Given the description of an element on the screen output the (x, y) to click on. 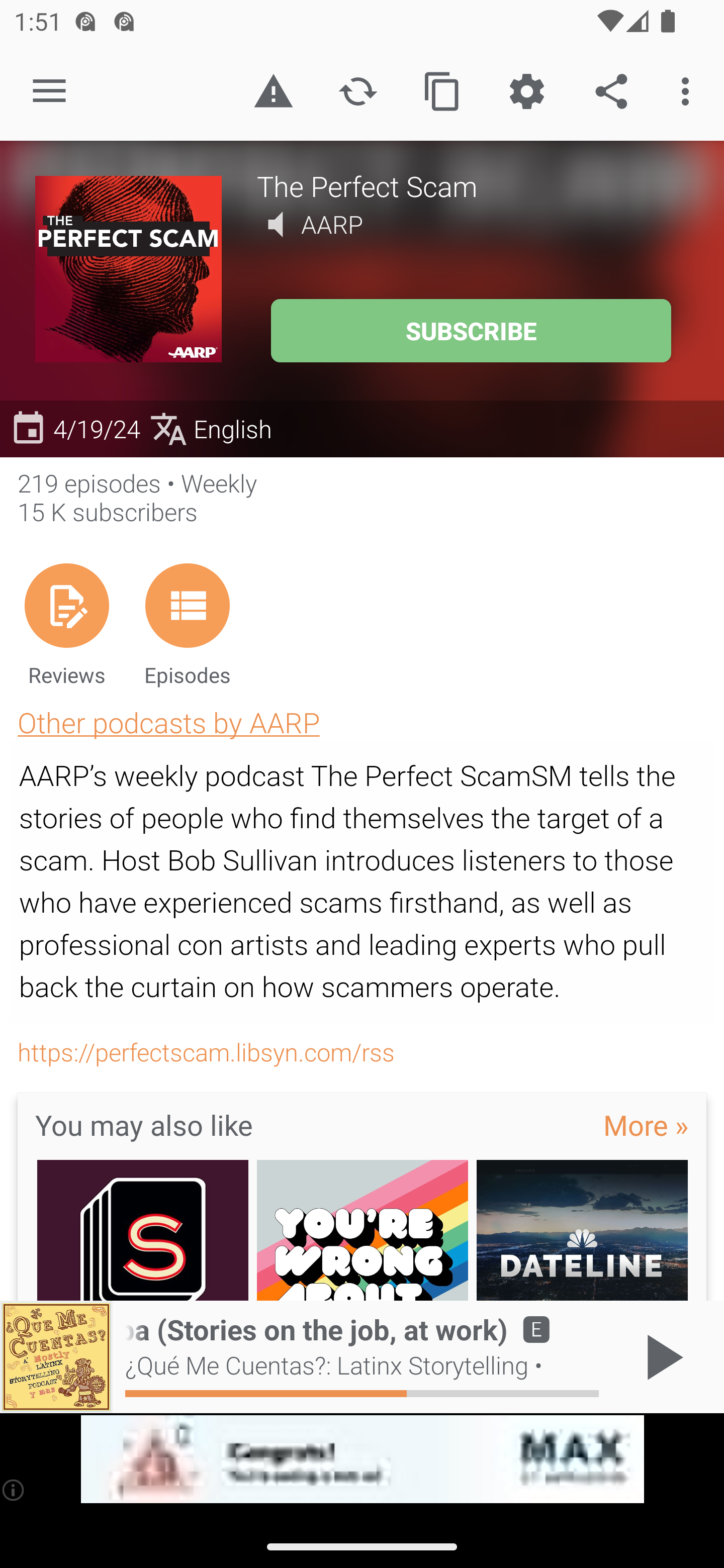
Open navigation sidebar (49, 91)
Report inappropriate content (272, 90)
Refresh podcast description (357, 90)
Copy feed url to clipboard (442, 90)
Custom Settings (526, 90)
Share the podcast (611, 90)
More options (688, 90)
The Perfect Scam (472, 185)
AARP (331, 223)
SUBSCRIBE (470, 330)
Reviews (66, 623)
Episodes (187, 623)
Other podcasts by AARP (168, 721)
More » (645, 1124)
Play / Pause (660, 1356)
app-monetization (362, 1459)
(i) (14, 1489)
